Given the description of an element on the screen output the (x, y) to click on. 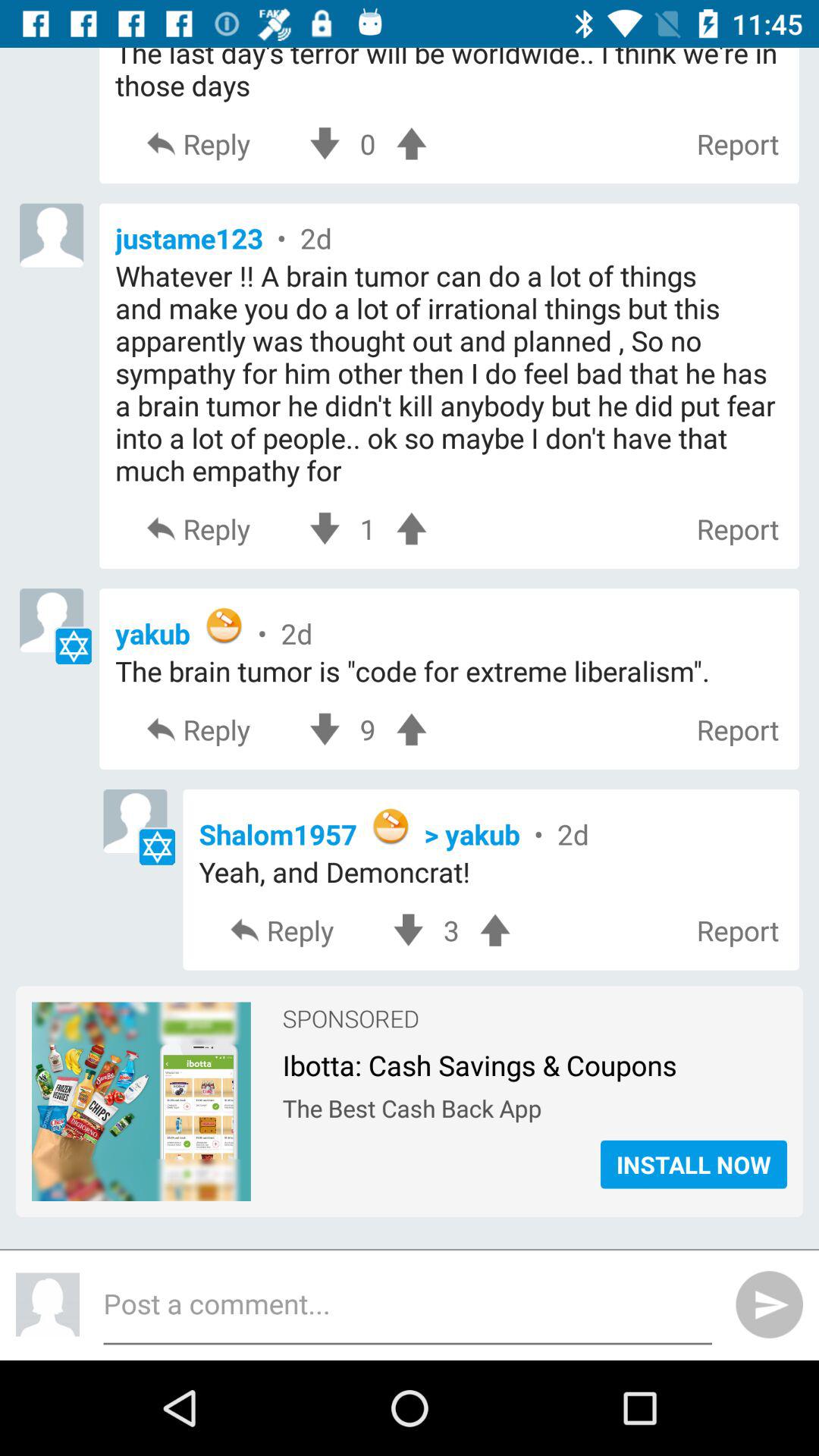
turn off icon above sponsored (451, 930)
